Given the description of an element on the screen output the (x, y) to click on. 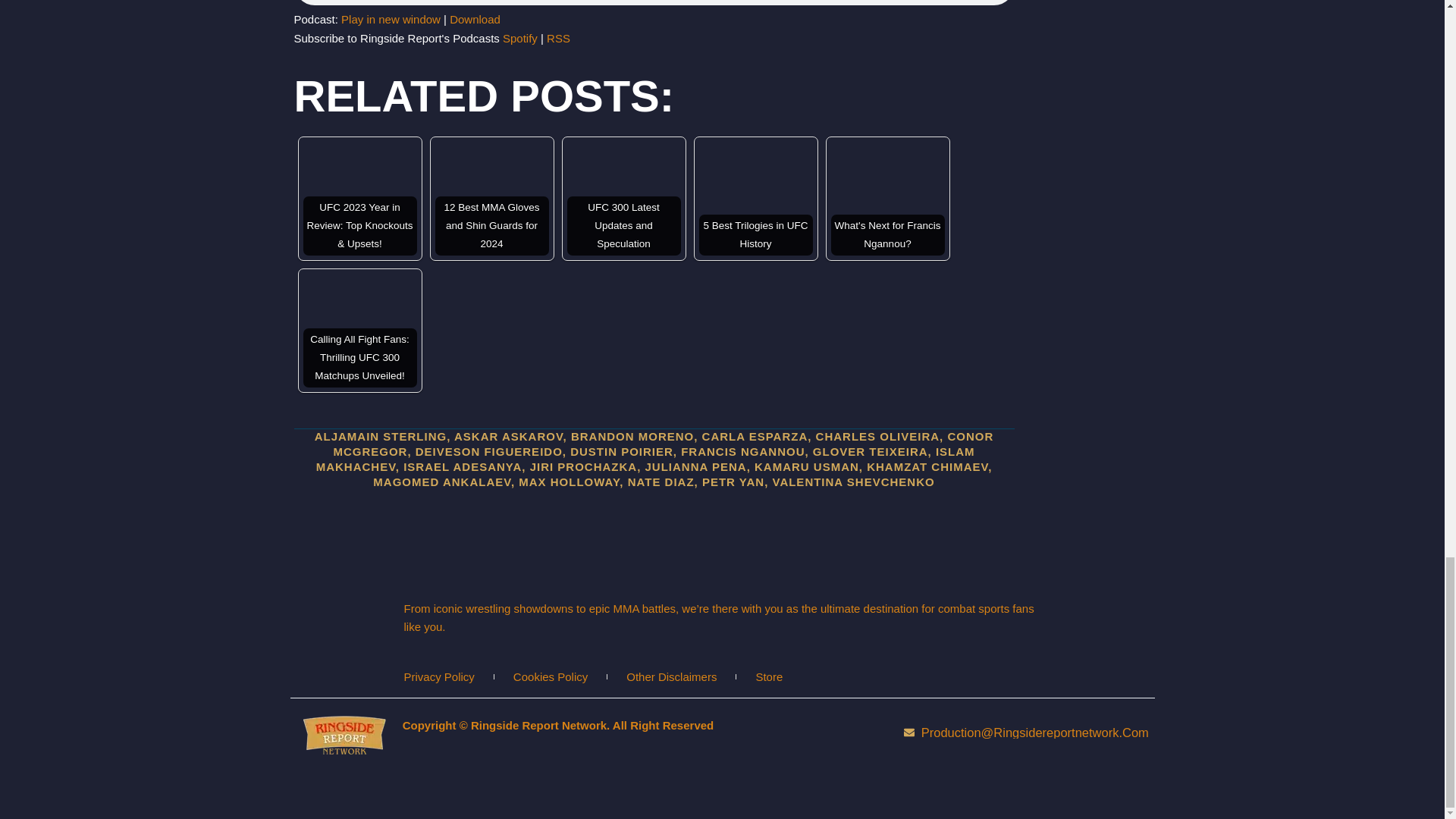
Subscribe via RSS (558, 38)
Subscribe on Spotify (519, 38)
UFC 300 Latest Updates and Speculation (624, 198)
Spotify (519, 38)
12 Best MMA Gloves and Shin Guards for 2024 (491, 198)
Download (474, 19)
Download (474, 19)
RSS (558, 38)
12 Best MMA Gloves and Shin Guards for 2024 (491, 198)
Play in new window (390, 19)
